Given the description of an element on the screen output the (x, y) to click on. 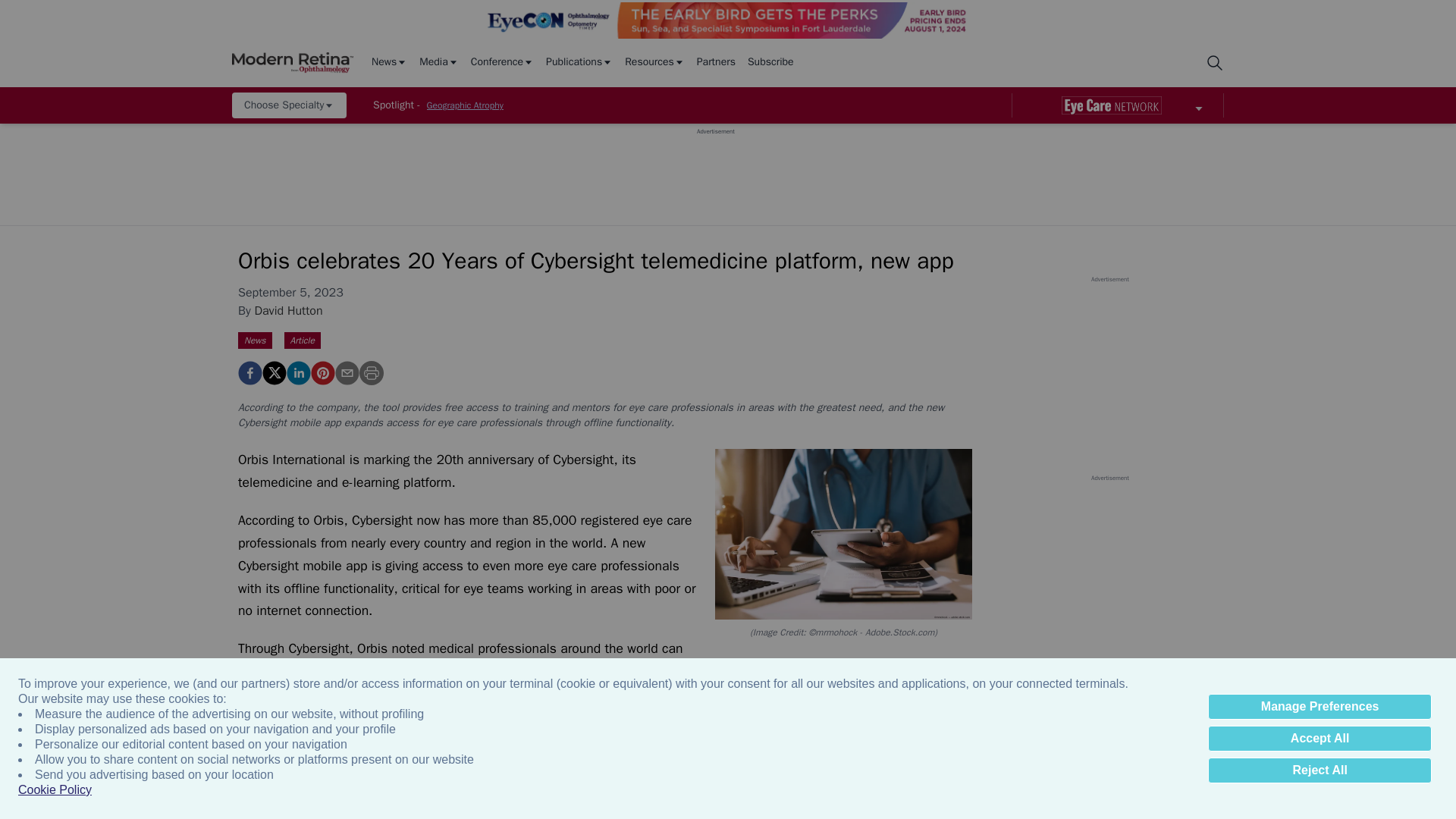
Manage Preferences (1319, 706)
Accept All (1319, 738)
Media (438, 62)
Partners (716, 62)
News (389, 62)
Cookie Policy (54, 789)
Resources (654, 62)
Conference (502, 62)
Subscribe (770, 62)
3rd party ad content (715, 169)
Publications (579, 62)
Reject All (1319, 769)
